Given the description of an element on the screen output the (x, y) to click on. 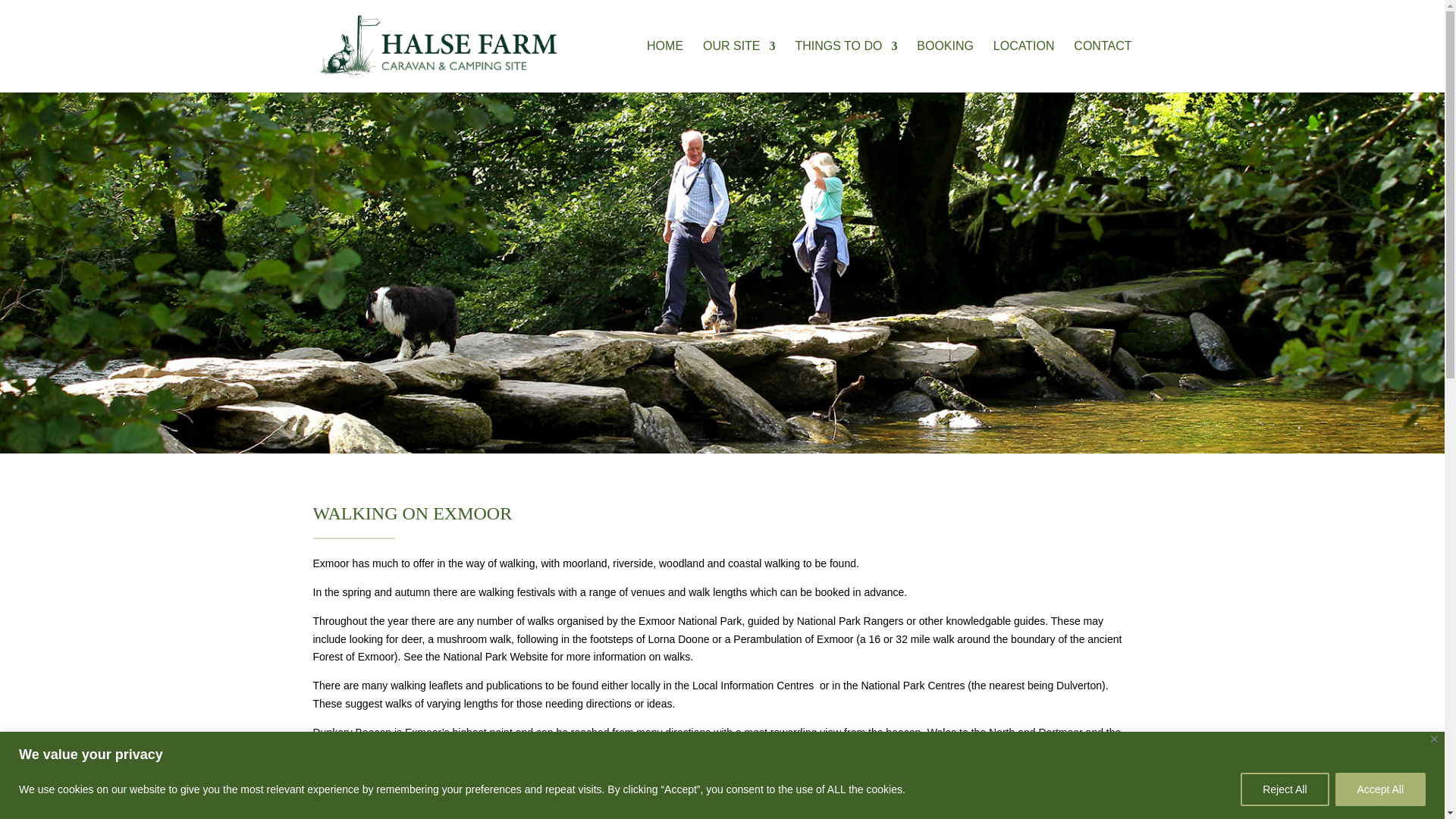
THINGS TO DO (845, 66)
BOOKING (945, 66)
Reject All (1283, 788)
LOCATION (1023, 66)
CONTACT (1102, 66)
Accept All (1380, 788)
OUR SITE (739, 66)
